Given the description of an element on the screen output the (x, y) to click on. 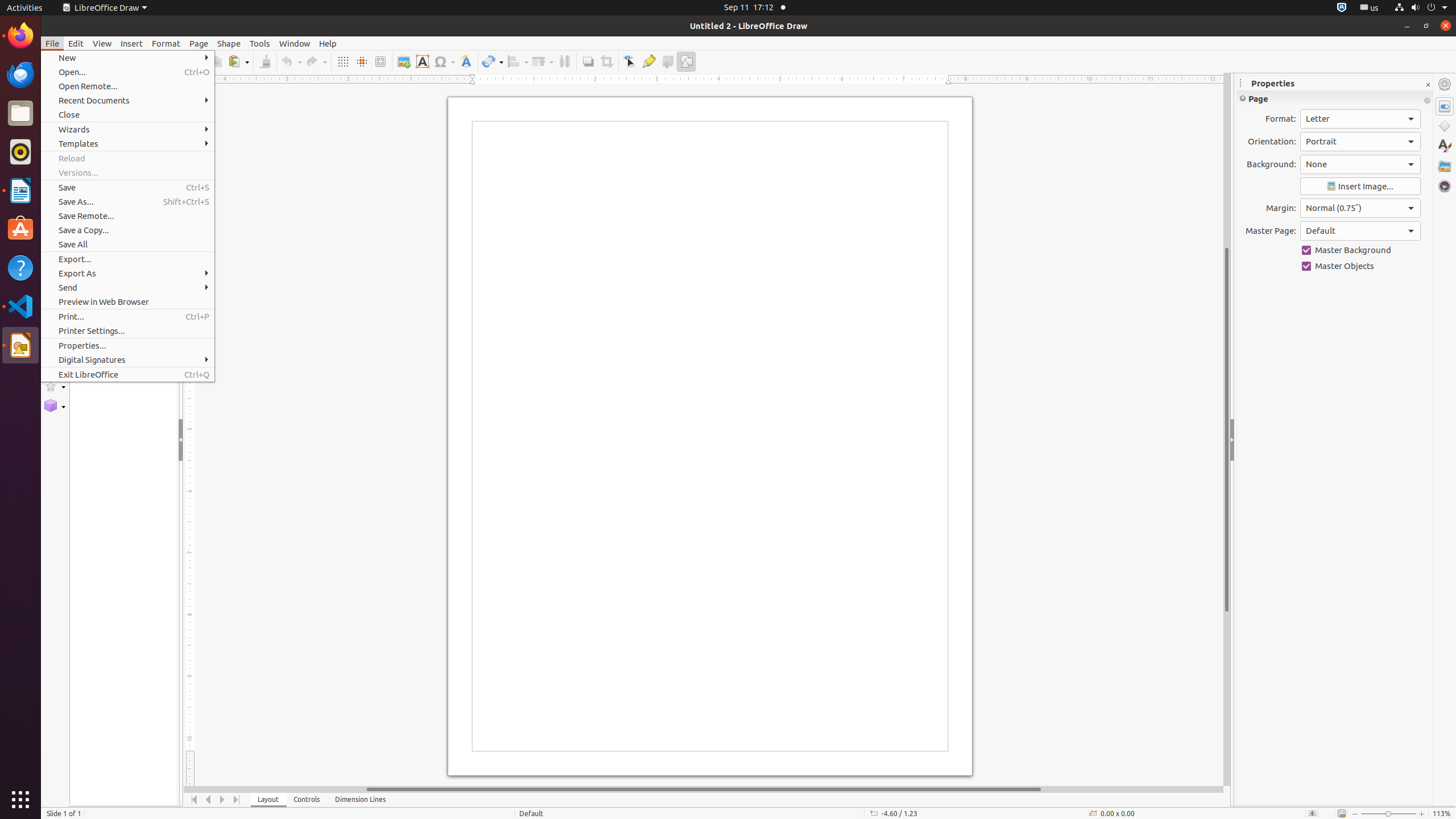
Move To Home Element type: push-button (194, 799)
Close Sidebar Deck Element type: push-button (1427, 84)
Horizontal scroll bar Element type: scroll-bar (703, 789)
Format Element type: menu (165, 43)
Digital Signatures Element type: menu (127, 359)
